Given the description of an element on the screen output the (x, y) to click on. 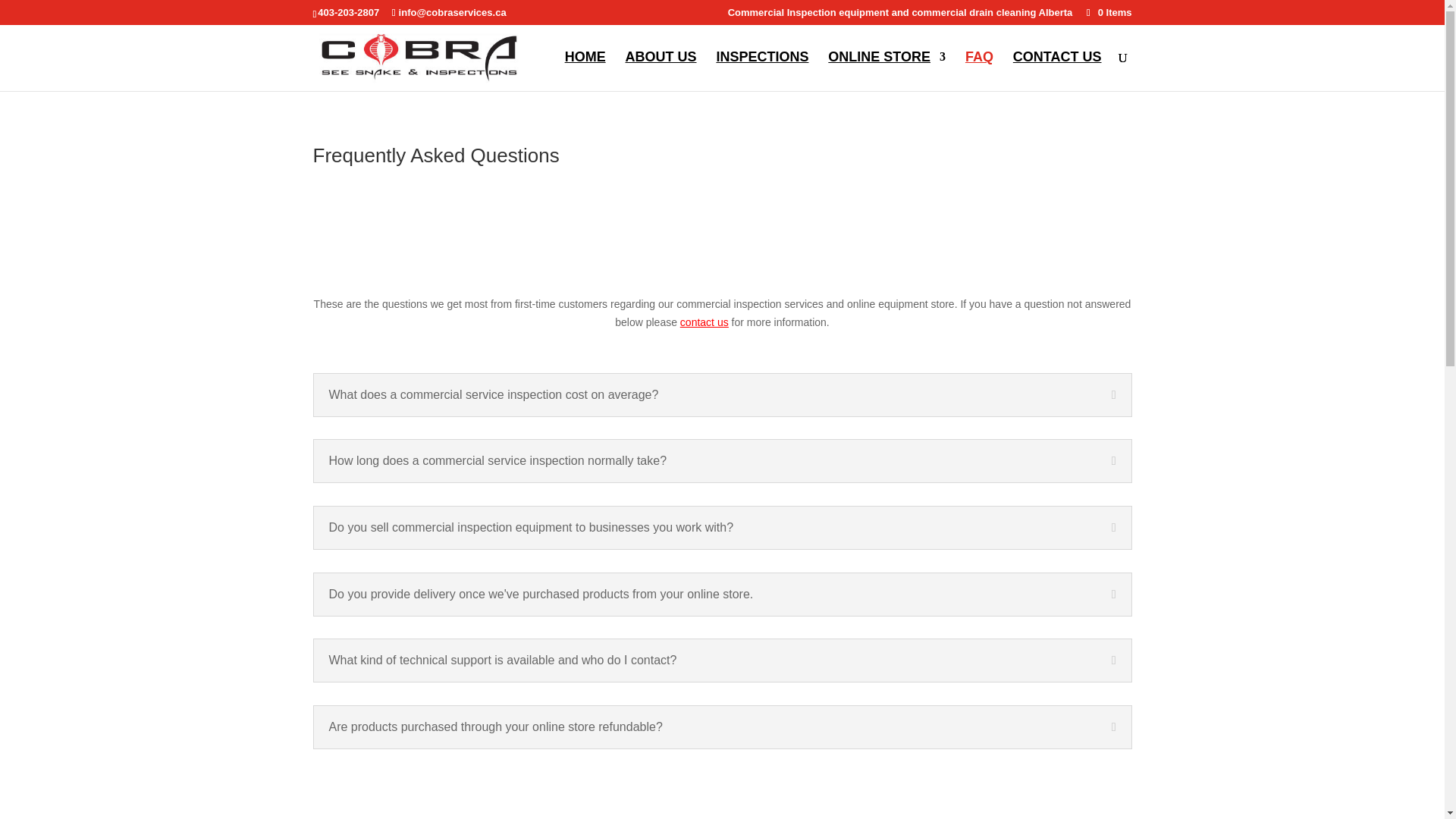
HOME (584, 70)
ONLINE STORE (886, 70)
contact us (704, 322)
INSPECTIONS (762, 70)
ABOUT US (661, 70)
CONTACT US (1057, 70)
0 Items (1107, 12)
